Given the description of an element on the screen output the (x, y) to click on. 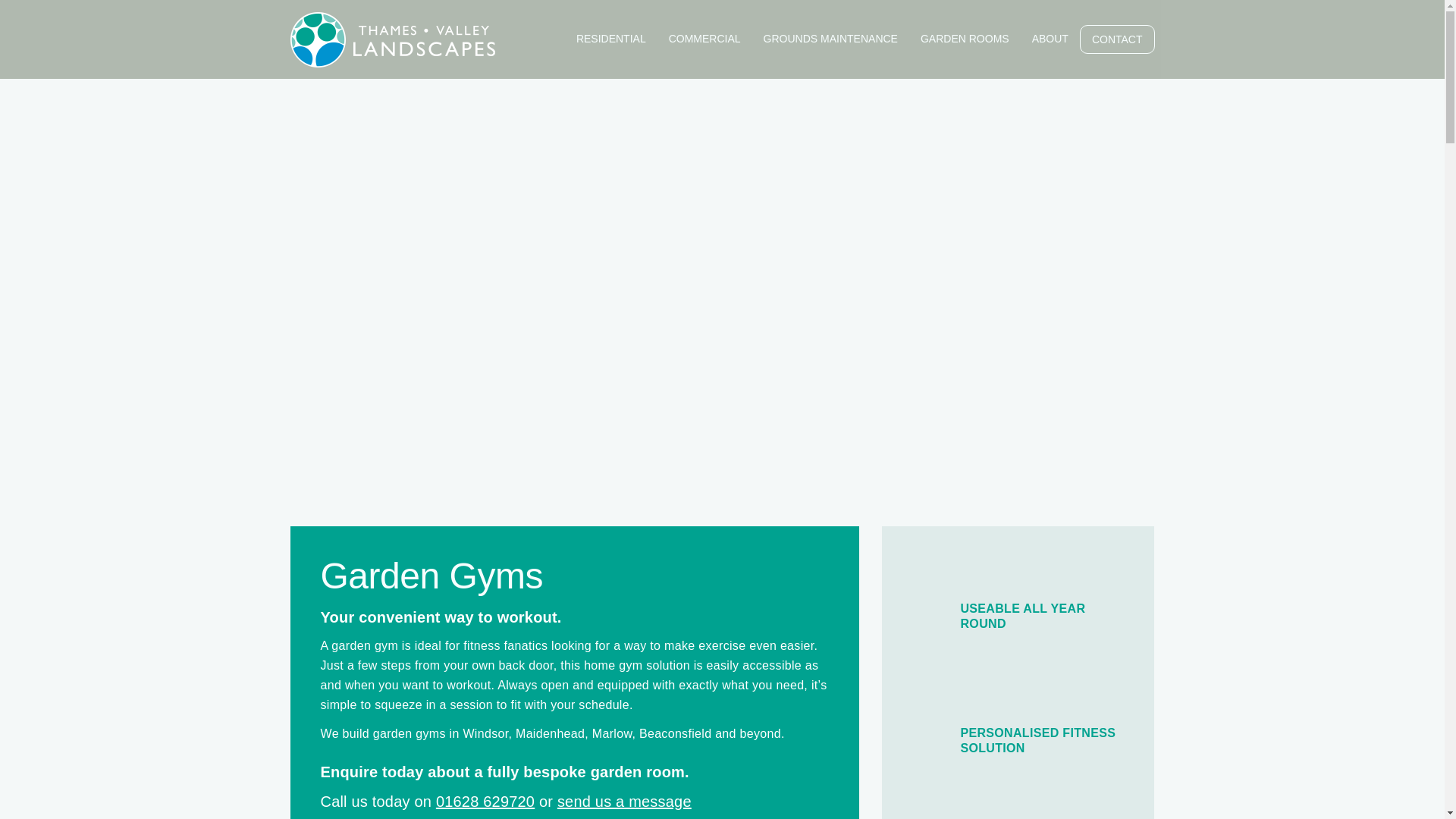
RESIDENTIAL (611, 38)
ABOUT (1050, 38)
GROUNDS MAINTENANCE (830, 38)
GARDEN ROOMS (964, 38)
COMMERCIAL (705, 38)
CONTACT (1117, 39)
